Given the description of an element on the screen output the (x, y) to click on. 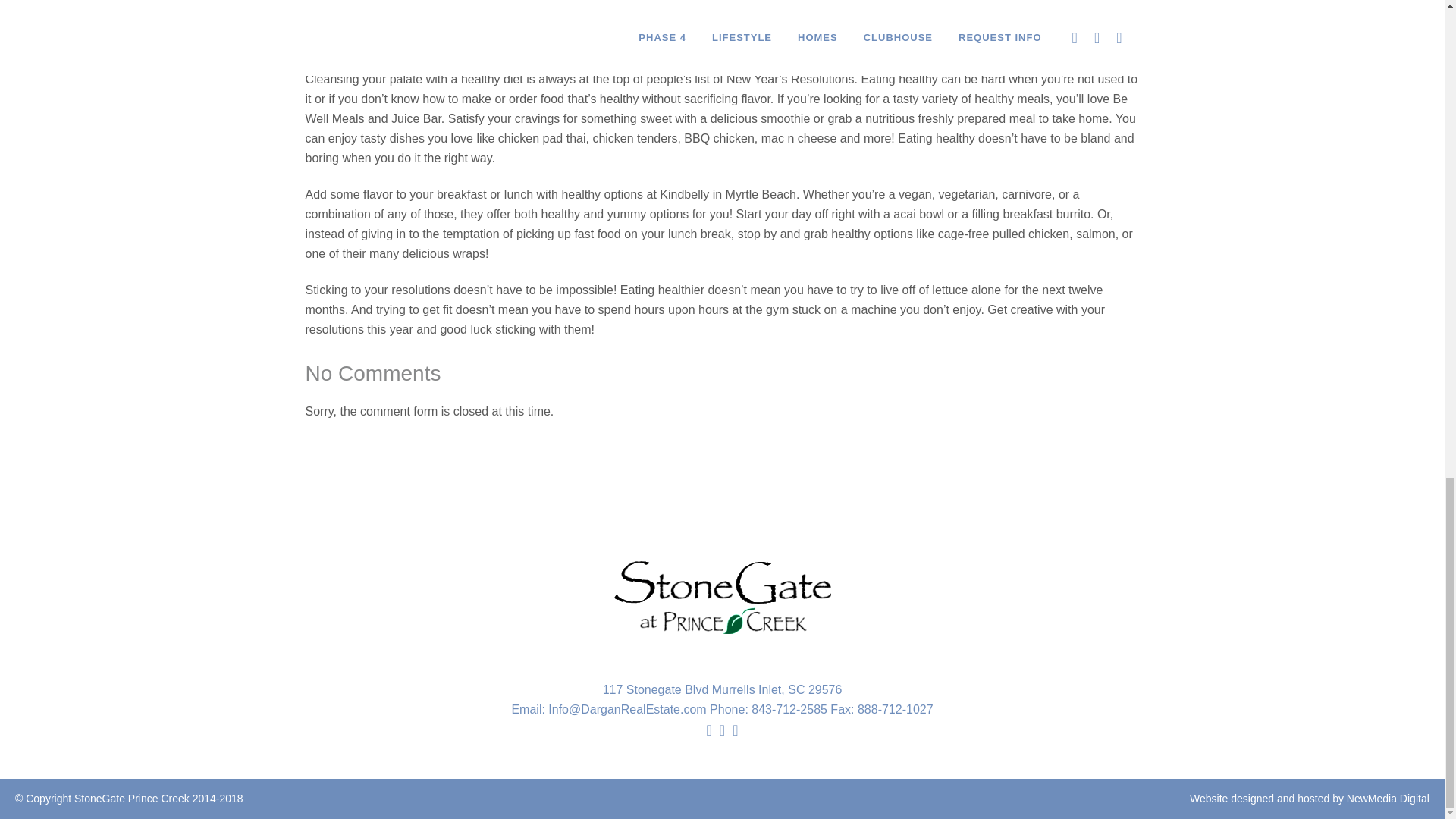
NewMedia Digital (1387, 798)
843-712-2585 (789, 708)
here (938, 42)
